Given the description of an element on the screen output the (x, y) to click on. 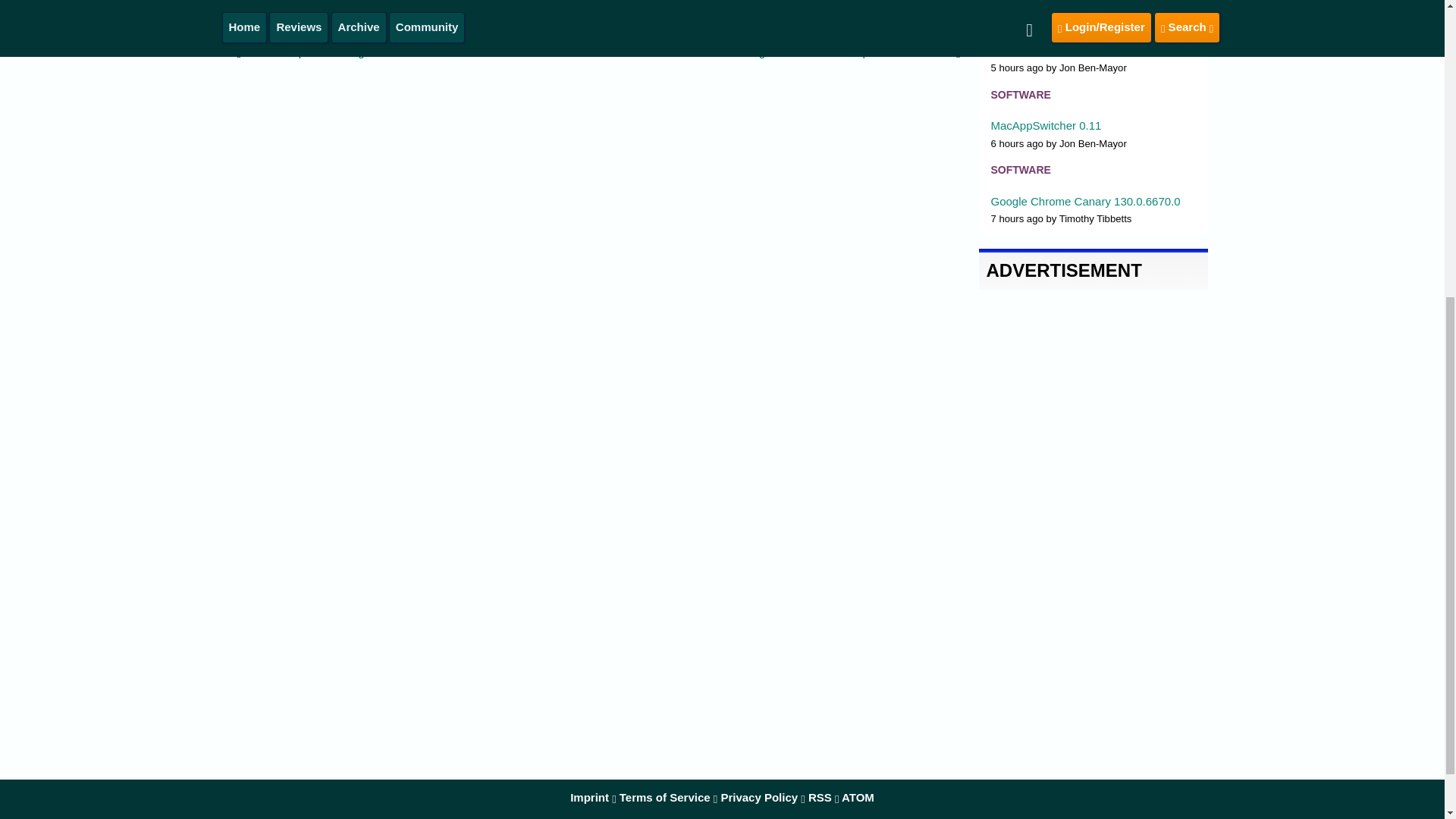
Privacy Policy (758, 797)
Google Chrome Canary 130.0.6670.0 (1084, 201)
RSS (819, 797)
Imprint (589, 797)
SOFTWARE (1019, 19)
Intel Aircooling - Heatsink Roundup December 2003 (822, 51)
SOFTWARE (1019, 94)
BYOND 515.1643 (1035, 50)
moved me to do just that (419, 1)
MacAppSwitcher 0.11 (1045, 124)
